Given the description of an element on the screen output the (x, y) to click on. 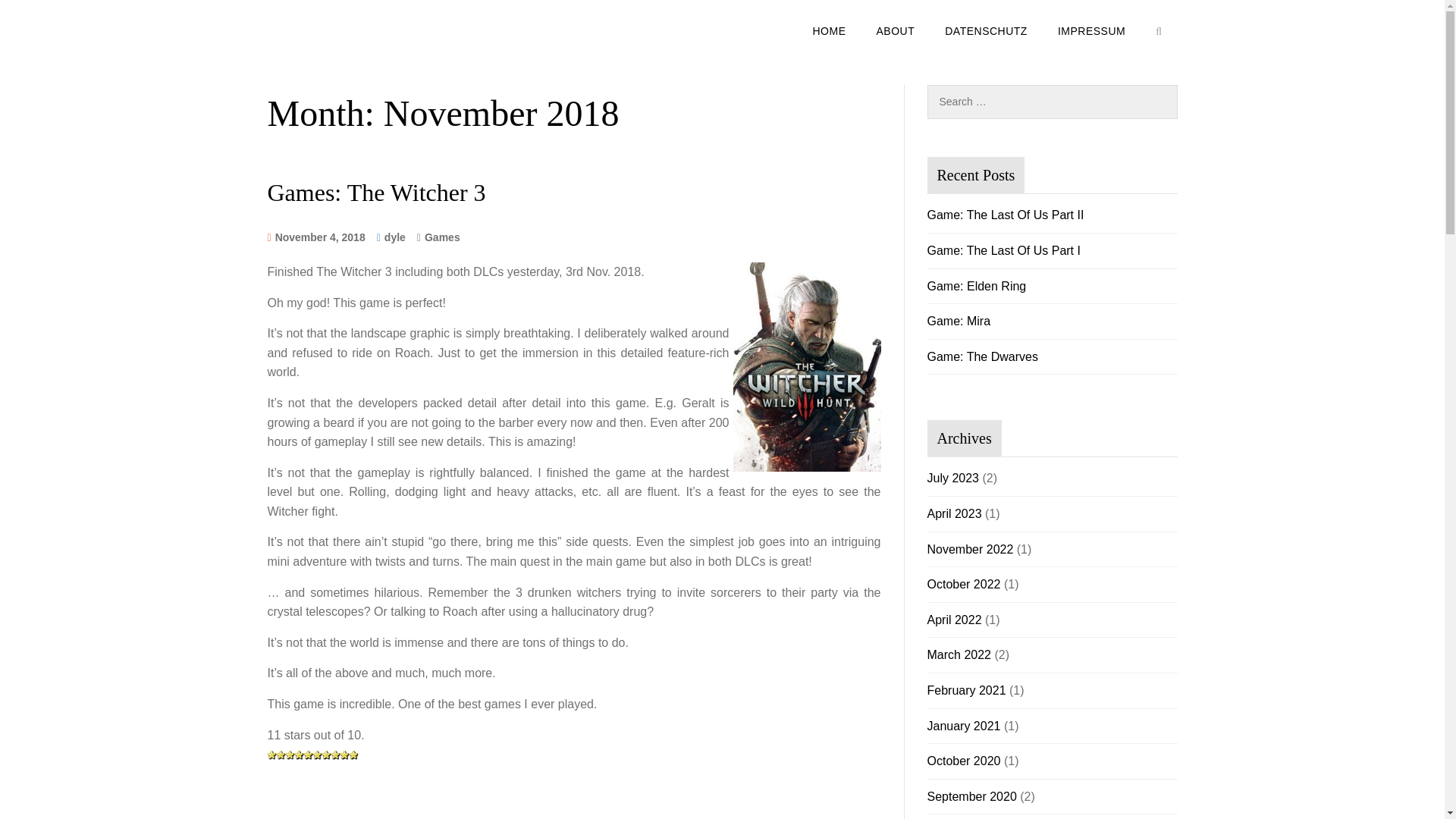
Game: Elden Ring (976, 286)
Game: The Last Of Us Part II (1004, 214)
HOME (828, 31)
September 2020 (971, 796)
October 2022 (963, 584)
November 2022 (969, 549)
Game: Mira (958, 320)
DATENSCHUTZ (986, 31)
October 2020 (963, 760)
ABOUT (895, 31)
